Given the description of an element on the screen output the (x, y) to click on. 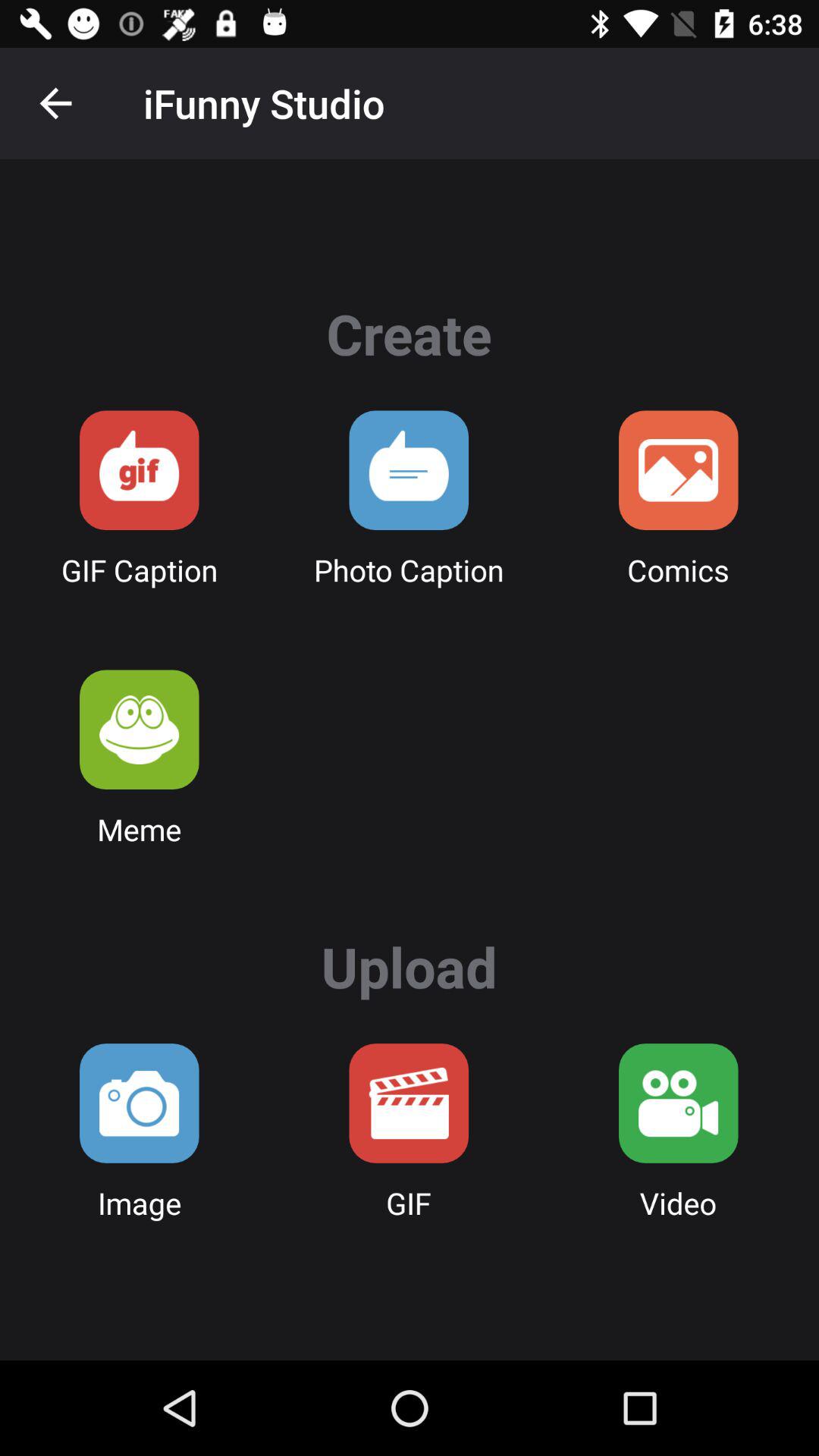
icon (408, 470)
